Given the description of an element on the screen output the (x, y) to click on. 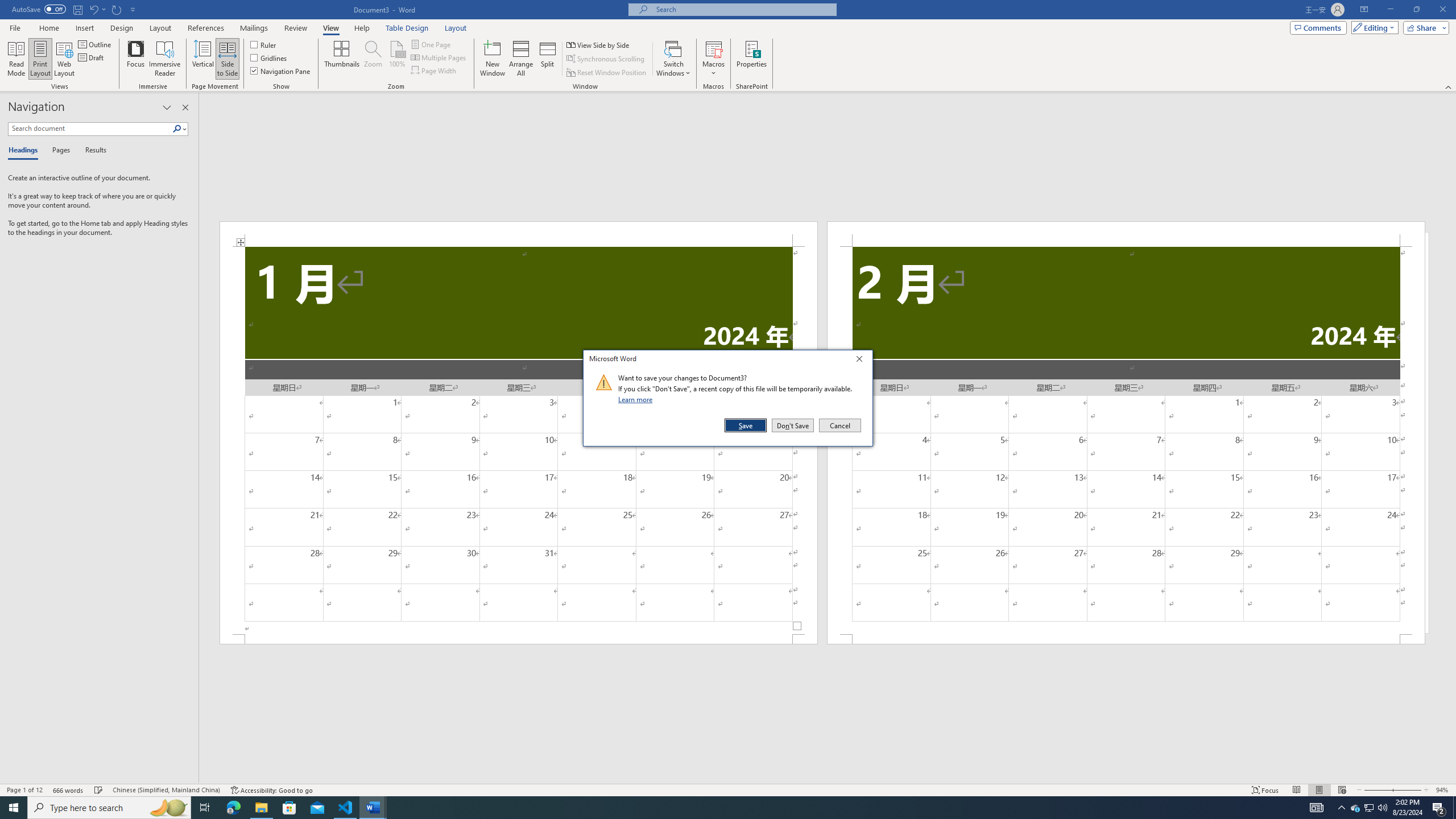
Reset Window Position (606, 72)
Class: MsoCommandBar (728, 789)
Footer -Section 1- (518, 638)
Zoom... (372, 58)
Class: NetUIScrollBar (827, 778)
Accessibility Checker Accessibility: Good to go (271, 790)
Switch Windows (673, 58)
User Promoted Notification Area (1368, 807)
